Given the description of an element on the screen output the (x, y) to click on. 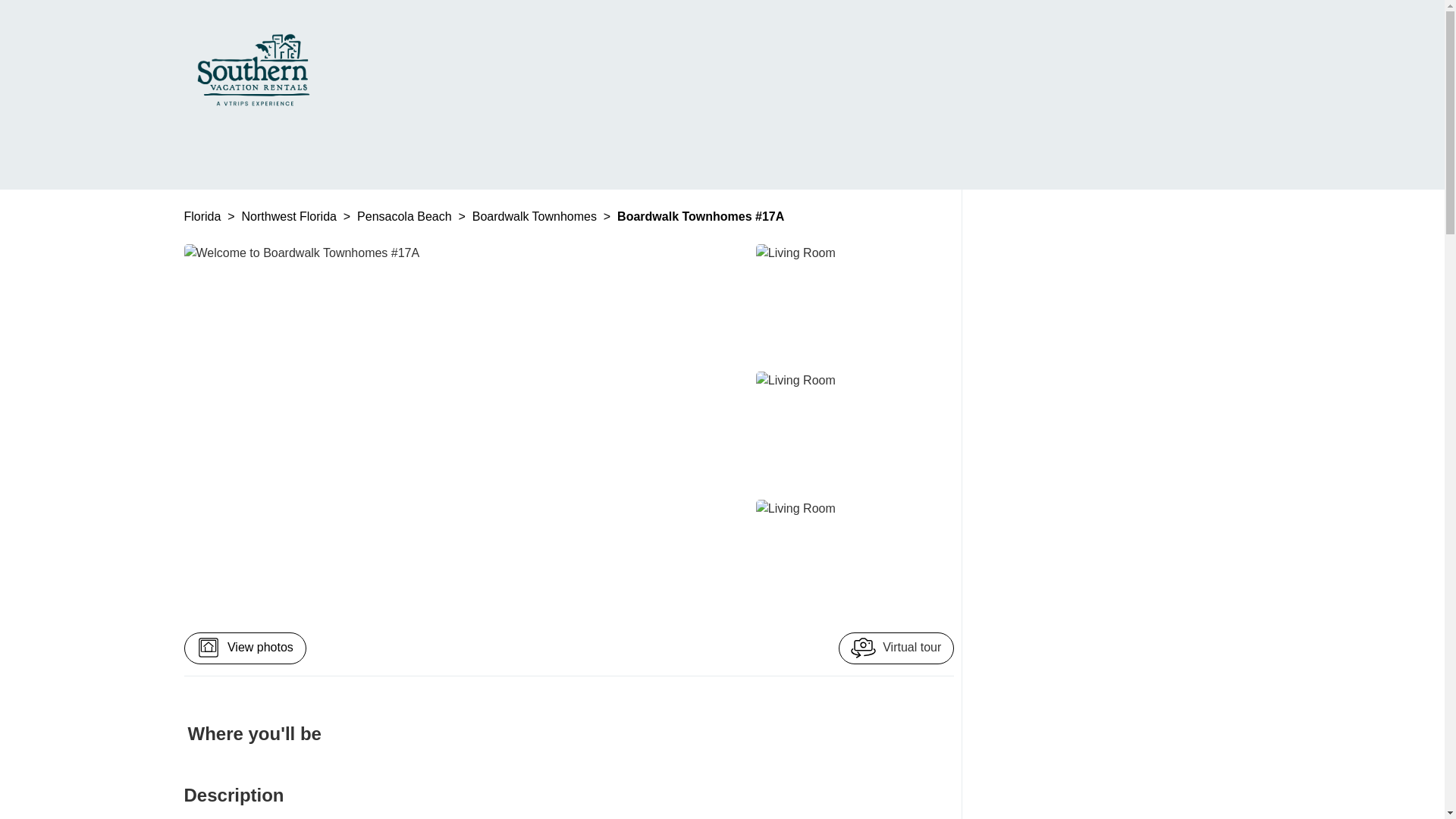
Florida (203, 215)
View photos (244, 648)
Northwest Florida (290, 215)
Living Room (850, 559)
Virtual tour (896, 648)
Pensacola Beach (405, 215)
Living Room (850, 304)
Living Room (850, 432)
Boardwalk Townhomes (535, 215)
